Given the description of an element on the screen output the (x, y) to click on. 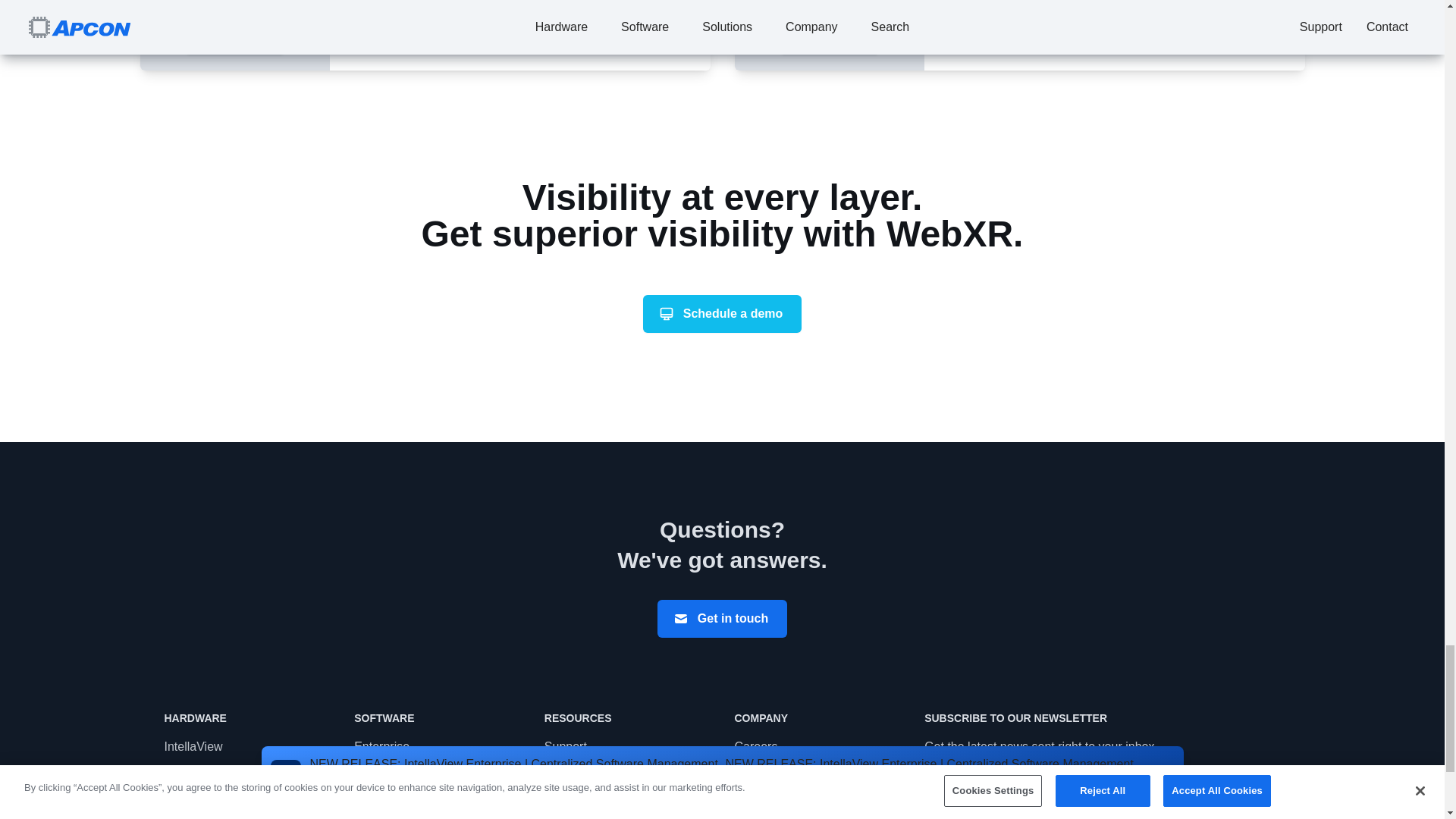
Schedule a demo (722, 313)
View PDF (397, 30)
View PDF (992, 30)
